Given the description of an element on the screen output the (x, y) to click on. 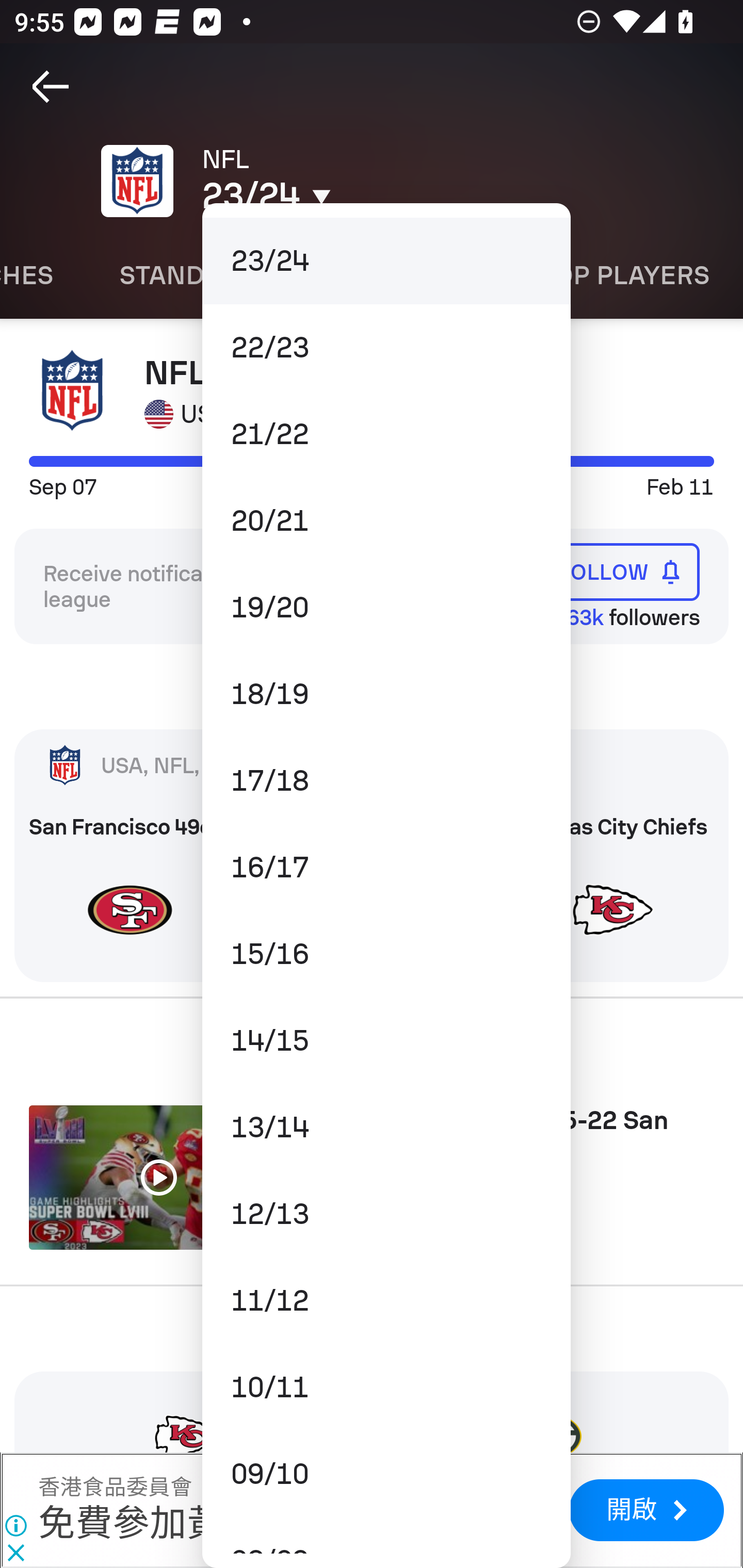
23/24 (386, 260)
22/23 (386, 347)
21/22 (386, 434)
20/21 (386, 521)
19/20 (386, 607)
18/19 (386, 693)
17/18 (386, 780)
16/17 (386, 867)
15/16 (386, 954)
14/15 (386, 1040)
13/14 (386, 1127)
12/13 (386, 1214)
11/12 (386, 1300)
10/11 (386, 1386)
09/10 (386, 1473)
